Given the description of an element on the screen output the (x, y) to click on. 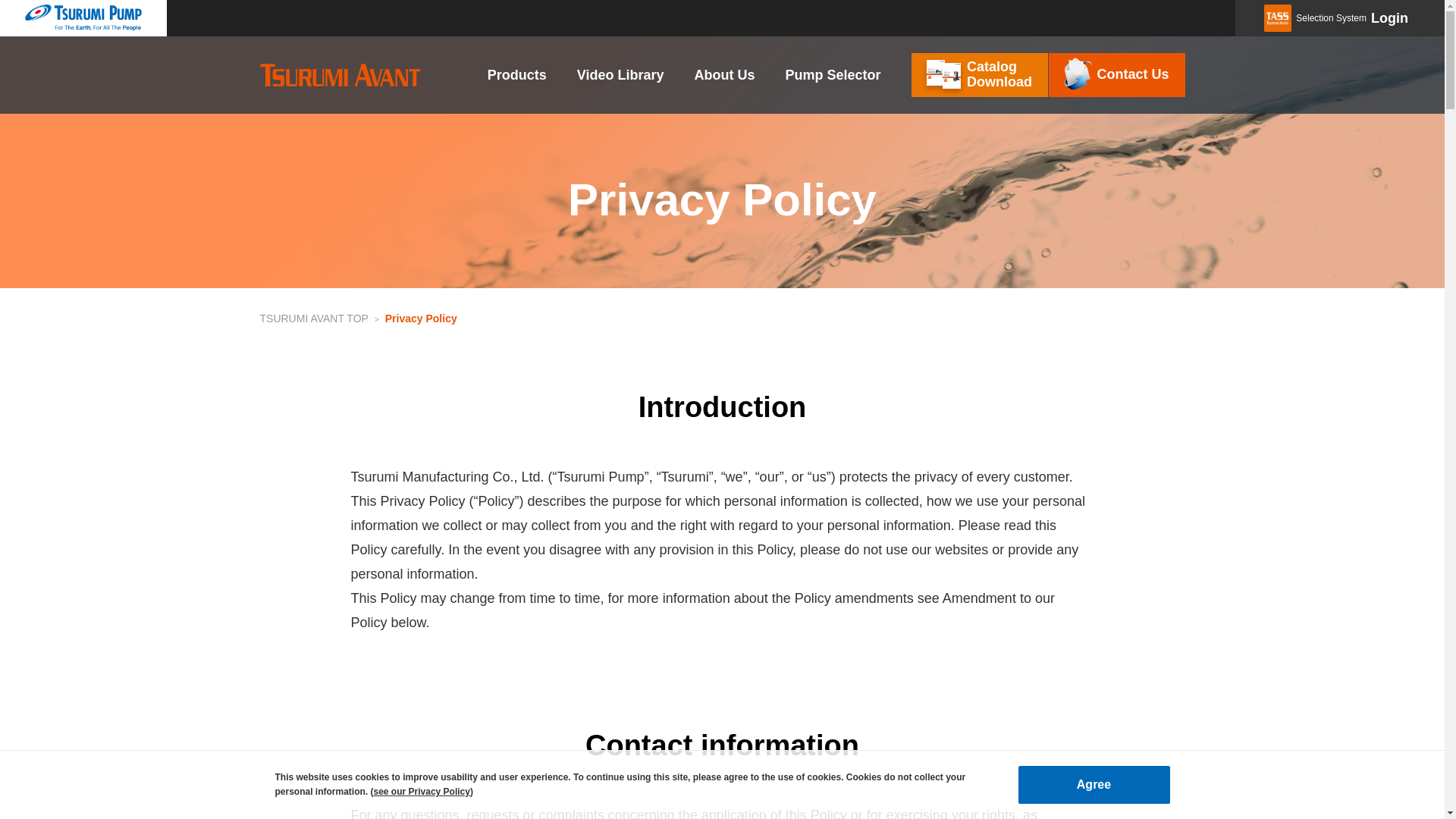
TSURUMI AVANT (339, 74)
About Us (724, 73)
TSURUMI PUMP (83, 18)
Products (979, 75)
TSURUMI AVANT TOP (517, 73)
Video Library (313, 318)
Contact Us (619, 73)
Pump Selector (1116, 75)
